Given the description of an element on the screen output the (x, y) to click on. 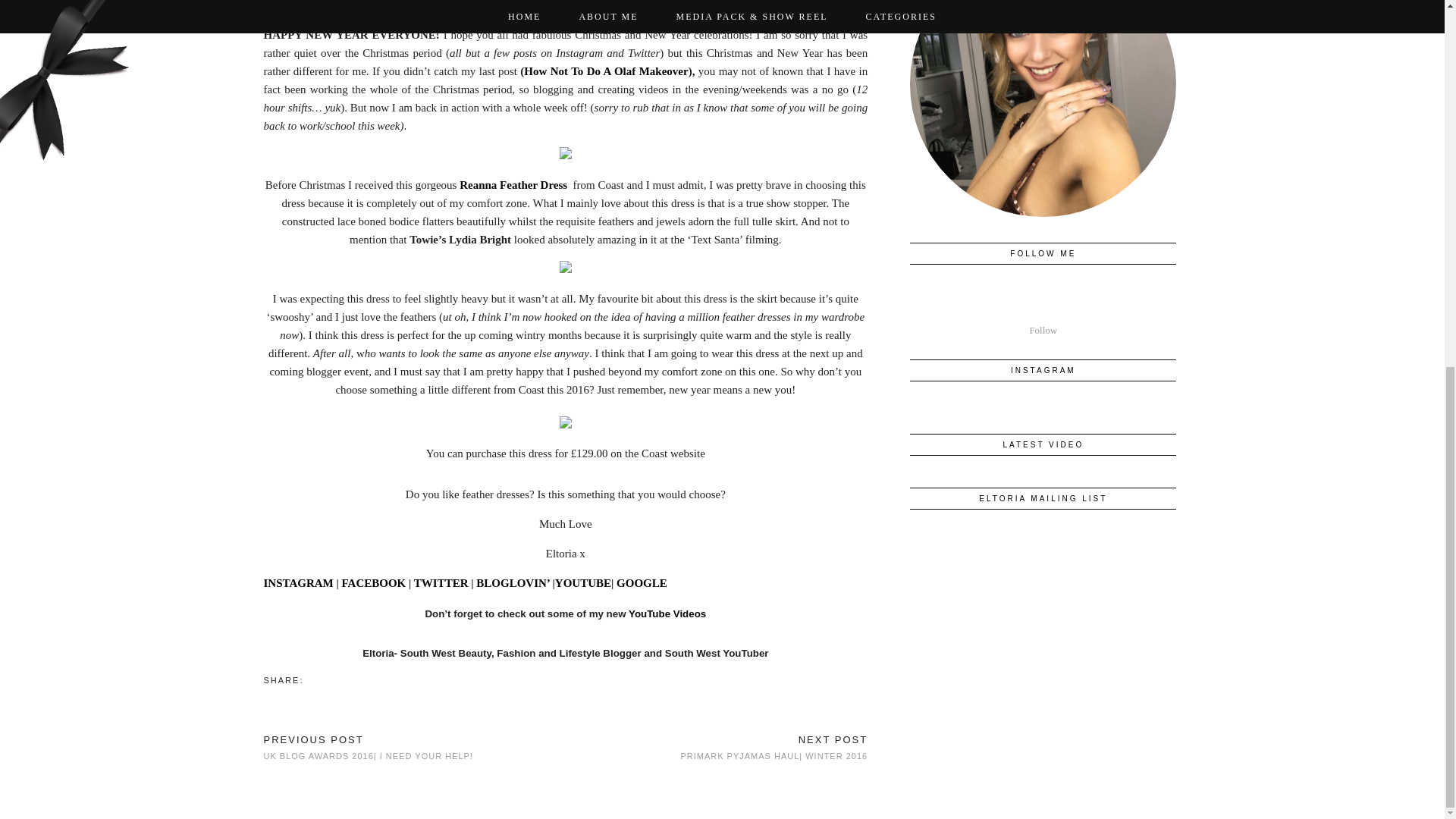
Reanna Feather Dress (515, 184)
TWITTER (440, 582)
How Not To Do A Olaf Makeover (605, 70)
FACEBOOK (374, 582)
INSTAGRAM (298, 582)
YOUTUBE (582, 582)
GOOGLE (640, 582)
YouTube Videos (667, 613)
